Given the description of an element on the screen output the (x, y) to click on. 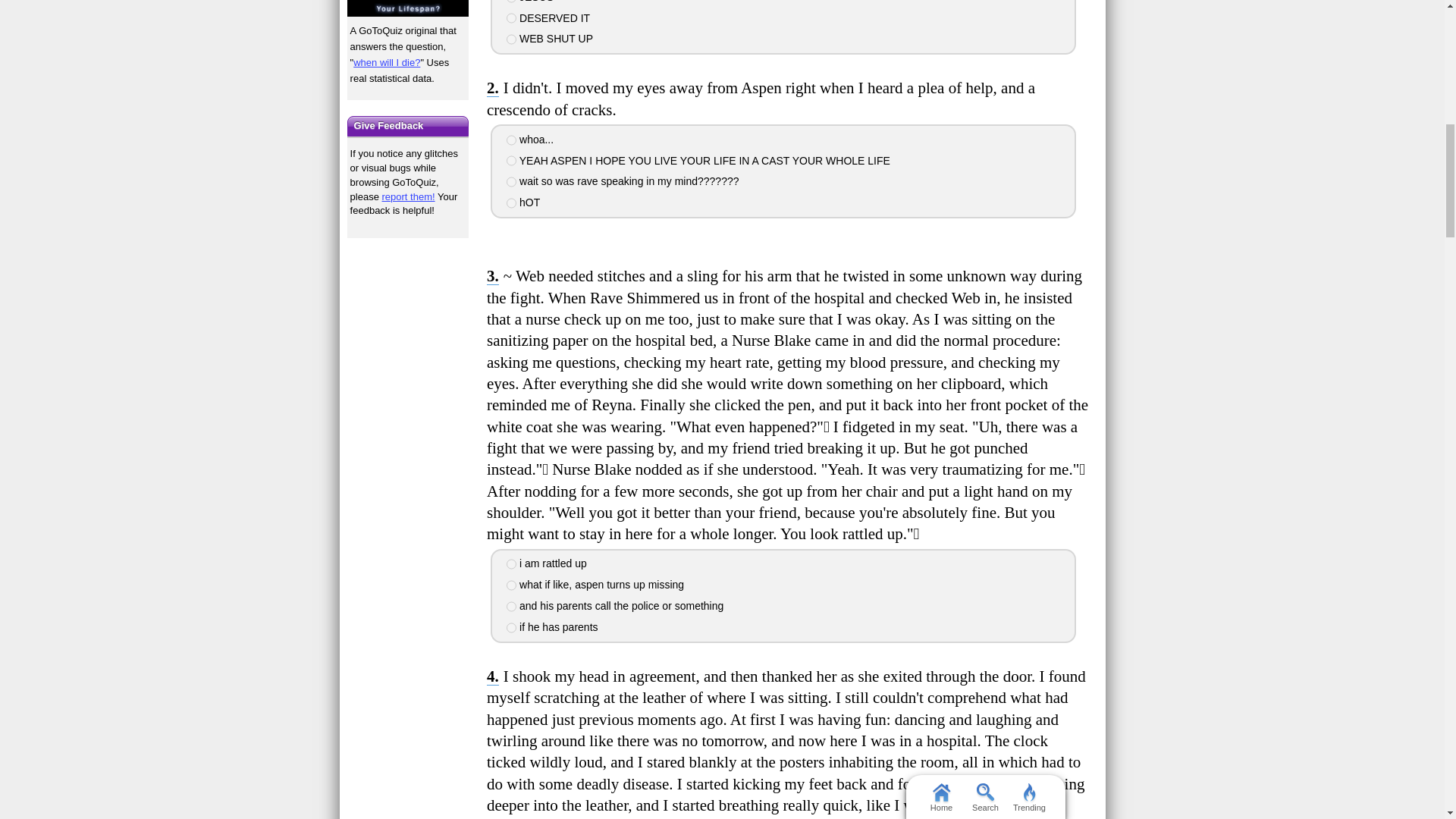
4 (511, 627)
4 (511, 203)
1 (511, 563)
3 (511, 181)
1 (511, 140)
Try our lifespan calculator (407, 7)
report them! (408, 196)
3 (511, 606)
when will I die? (386, 61)
2 (511, 160)
4 (511, 39)
3 (511, 18)
2 (511, 1)
2 (511, 584)
